Given the description of an element on the screen output the (x, y) to click on. 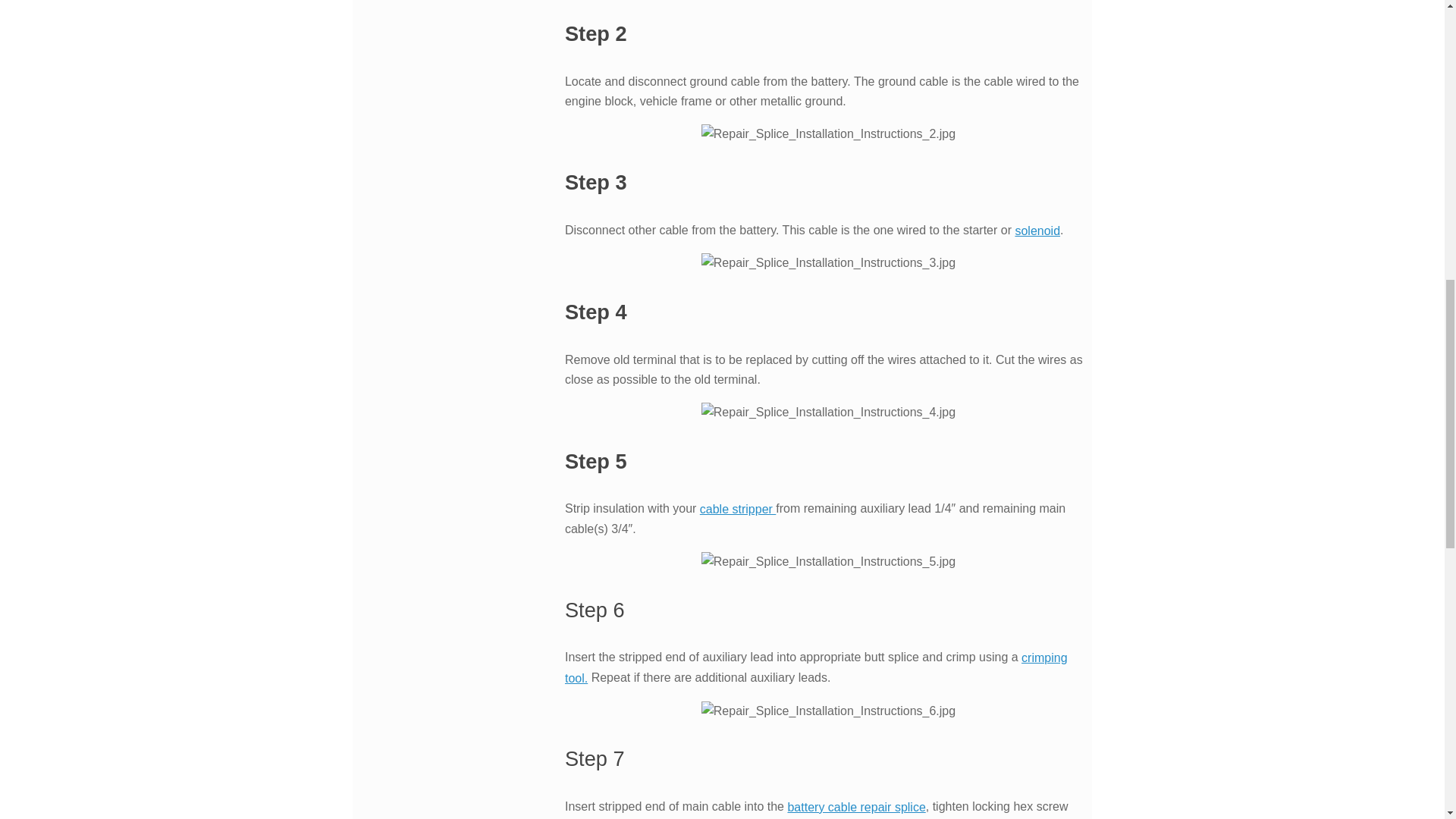
cable stripper (738, 508)
solenoid (1036, 230)
battery cable repair splice (855, 807)
crimping tool. (815, 667)
